Given the description of an element on the screen output the (x, y) to click on. 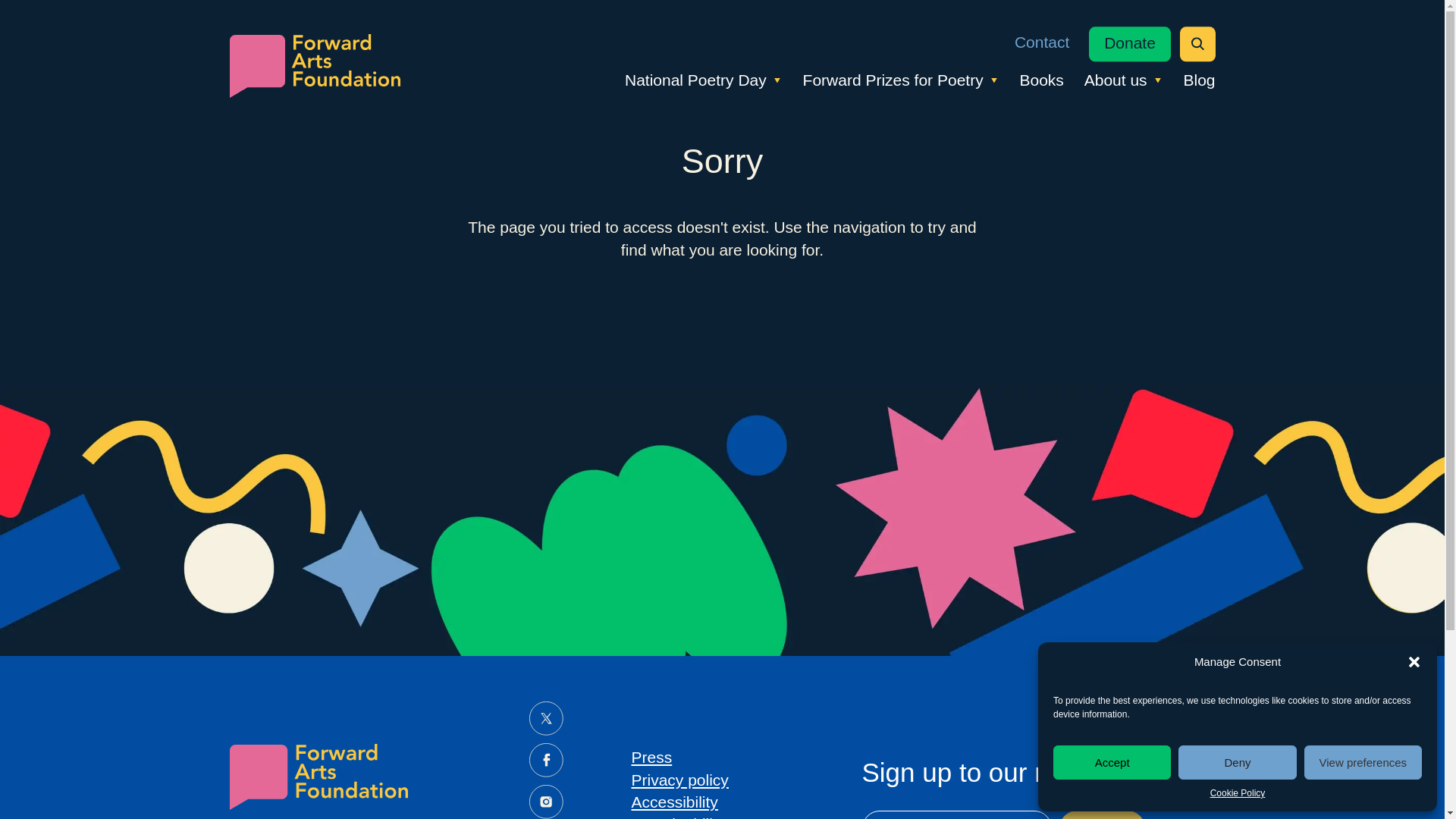
Books (1040, 80)
Accept (1111, 762)
About us (1123, 80)
Contact (1041, 42)
National Poetry Day (703, 80)
Forward Prizes for Poetry (900, 80)
Deny (1236, 762)
Sign up (1101, 814)
View preferences (1363, 762)
Cookie Policy (1237, 793)
Blog (1198, 80)
Donate (1129, 44)
